Given the description of an element on the screen output the (x, y) to click on. 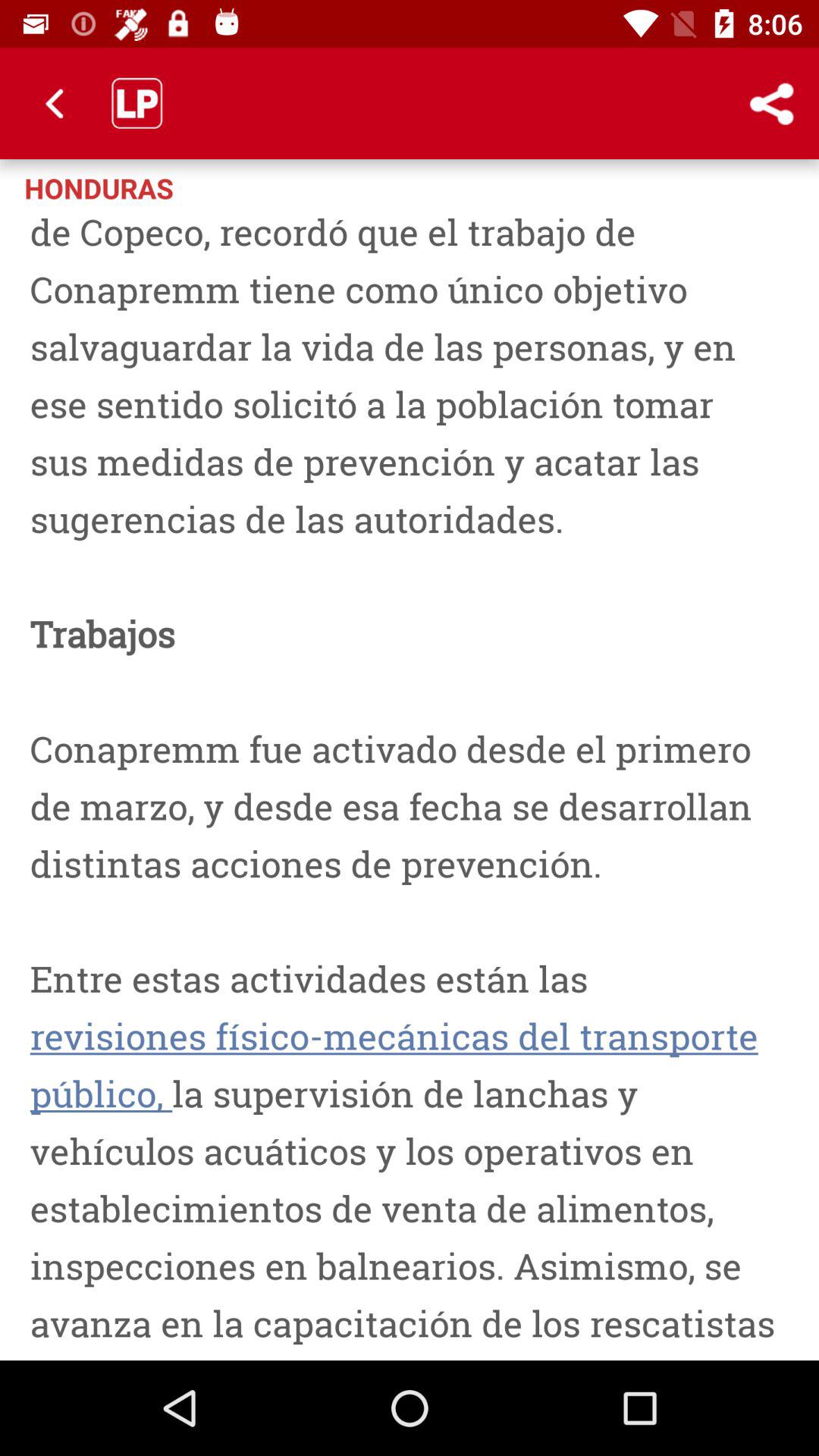
choose icon above the honduras (55, 103)
